Given the description of an element on the screen output the (x, y) to click on. 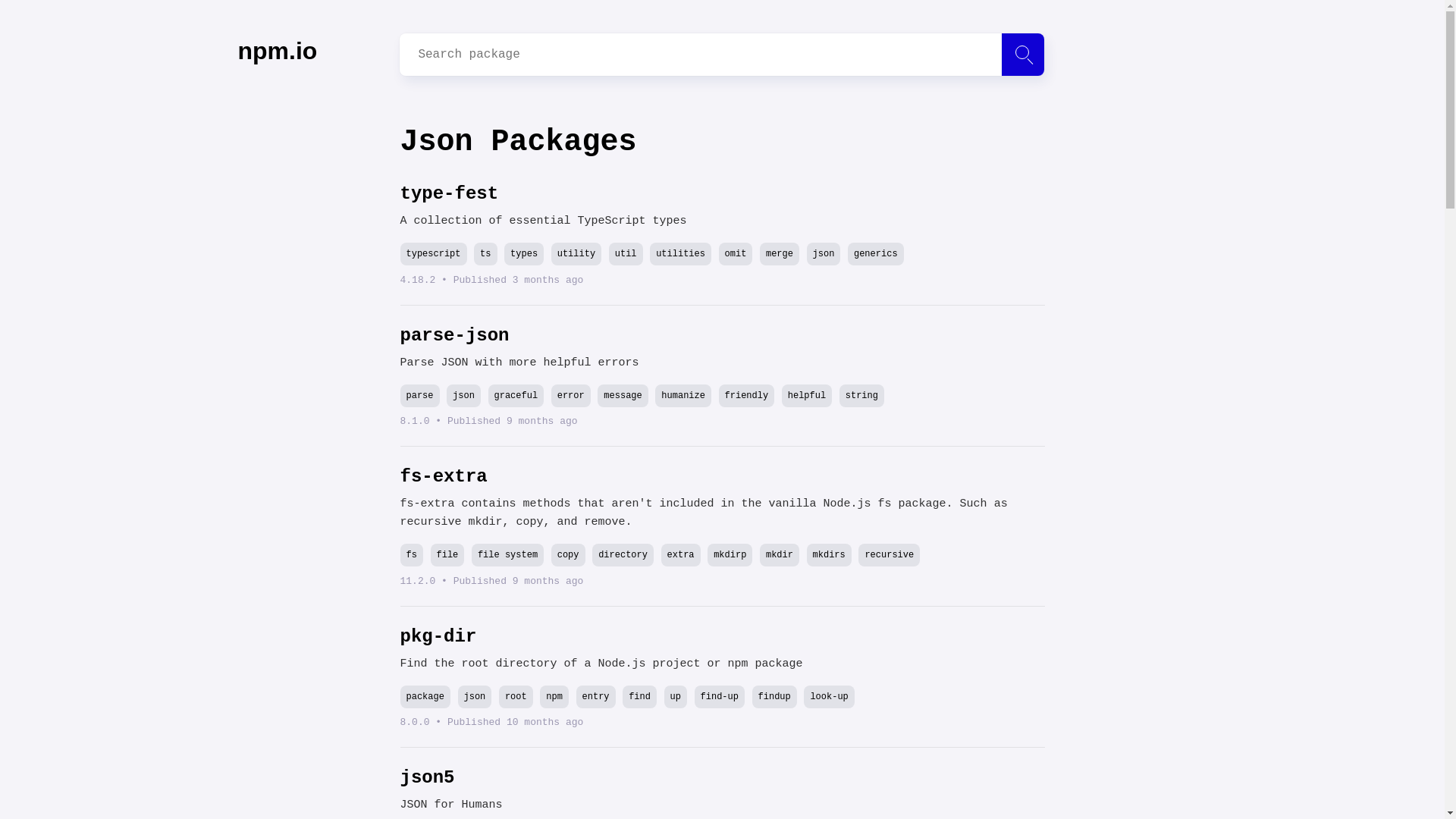
package (424, 696)
extra (680, 554)
types (523, 253)
file (447, 554)
message (621, 395)
mkdirs (828, 554)
parse (419, 395)
friendly (746, 395)
util (625, 253)
recursive (889, 554)
